Given the description of an element on the screen output the (x, y) to click on. 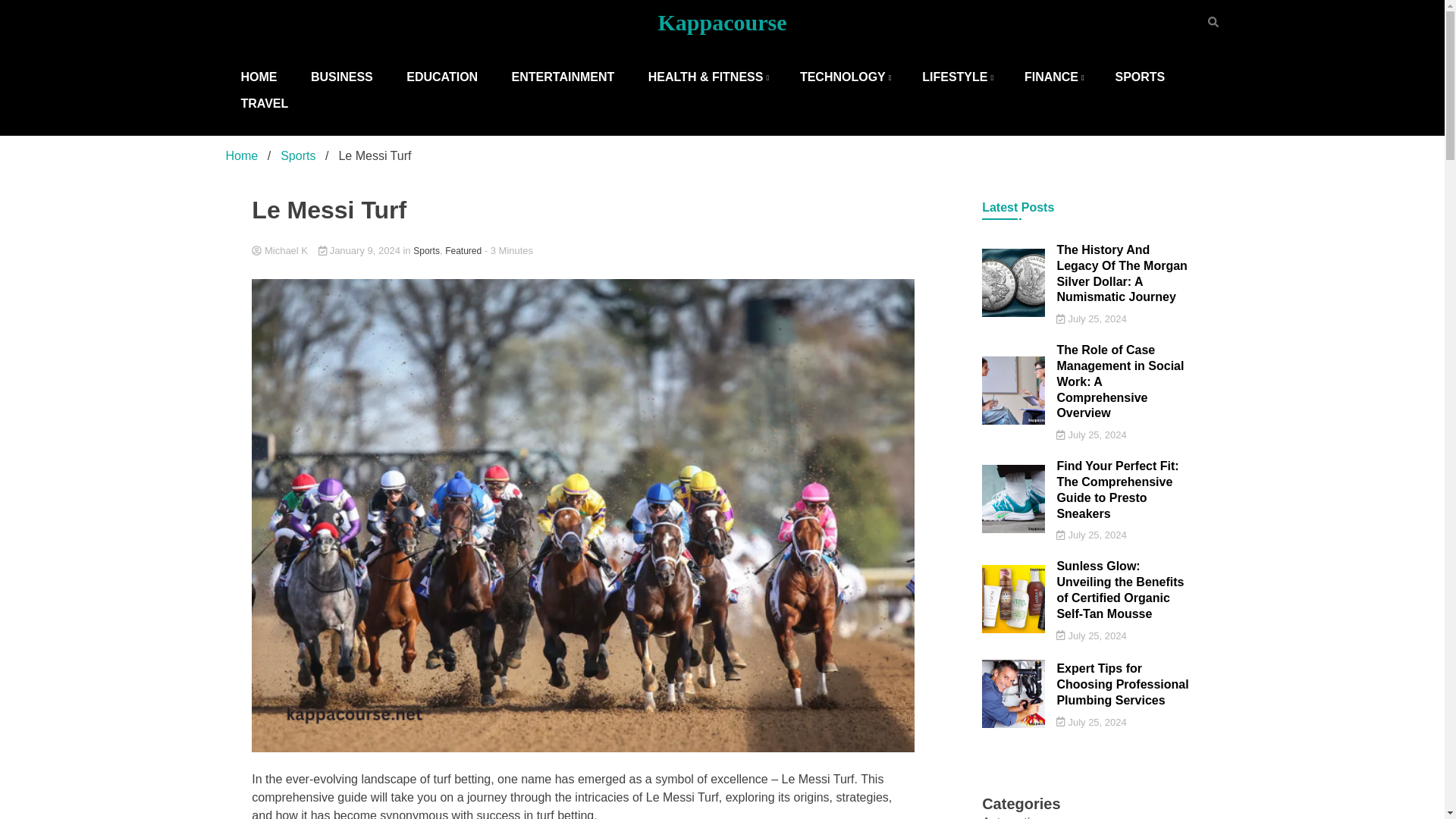
Featured (463, 250)
Sports (426, 250)
ENTERTAINMENT (563, 76)
SPORTS (1139, 76)
HOME (258, 76)
Michael K (582, 250)
TECHNOLOGY (844, 76)
Estimated Reading Time of Article (508, 250)
January 9, 2024 (360, 250)
BUSINESS (341, 76)
EDUCATION (442, 76)
FINANCE (1052, 76)
Home (242, 155)
Kappacourse (722, 22)
LIFESTYLE (956, 76)
